Given the description of an element on the screen output the (x, y) to click on. 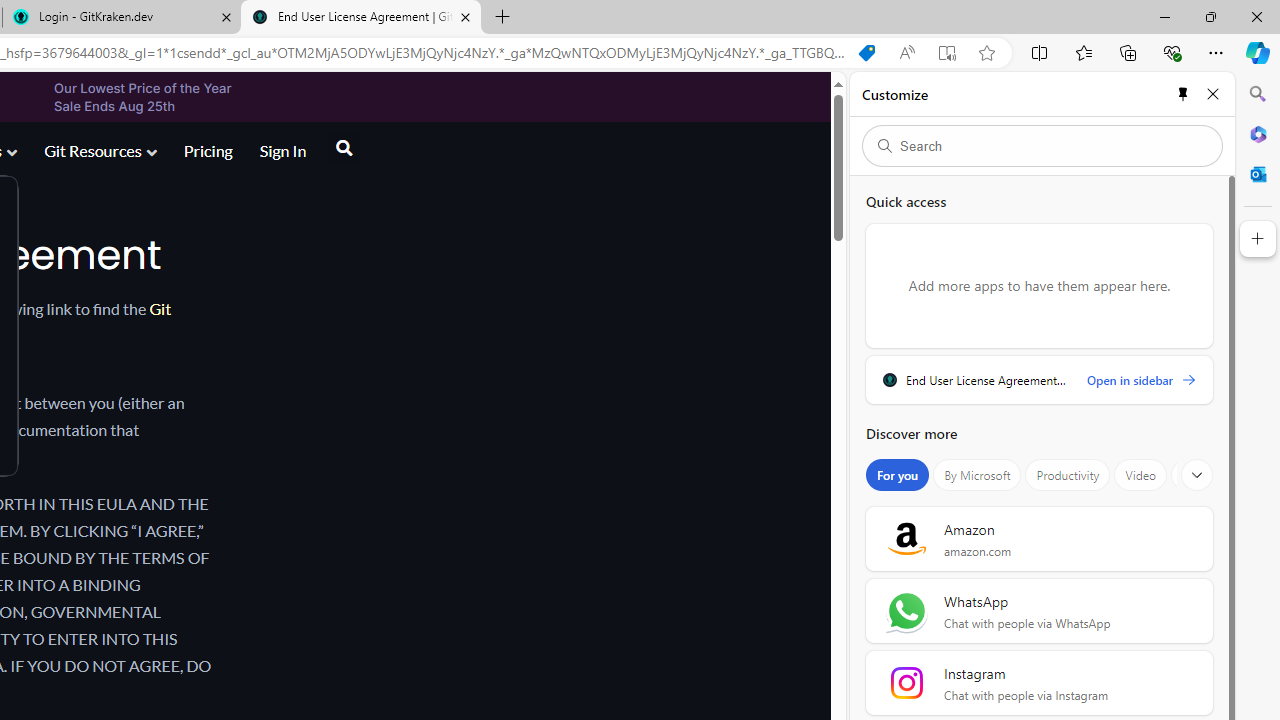
Sign In (282, 152)
For you (898, 475)
Productivity (1068, 475)
